Given the description of an element on the screen output the (x, y) to click on. 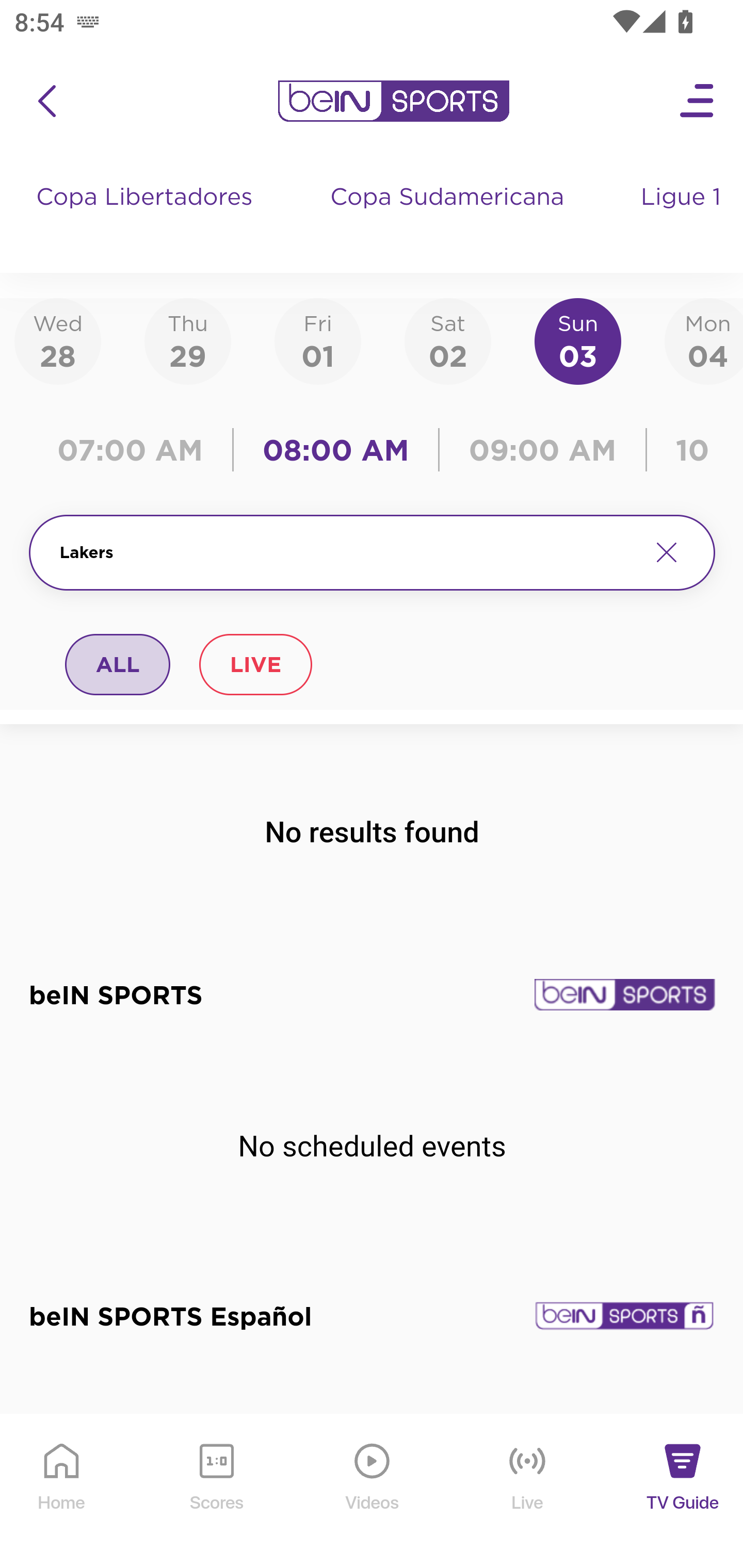
en-us?platform=mobile_android bein logo (392, 101)
icon back (46, 101)
Open Menu Icon (697, 101)
Copa Libertadores (146, 216)
Copa Sudamericana (448, 216)
Ligue 1 (682, 216)
Wed28 (58, 340)
Thu29 (187, 340)
Fri01 (318, 340)
Sat02 (447, 340)
Sun03 (578, 340)
Mon04 (703, 340)
07:00 AM (135, 449)
08:00 AM (336, 449)
09:00 AM (542, 449)
Lakers (346, 552)
ALL (118, 663)
LIVE (255, 663)
Home Home Icon Home (61, 1491)
Scores Scores Icon Scores (216, 1491)
Videos Videos Icon Videos (372, 1491)
TV Guide TV Guide Icon TV Guide (682, 1491)
